Given the description of an element on the screen output the (x, y) to click on. 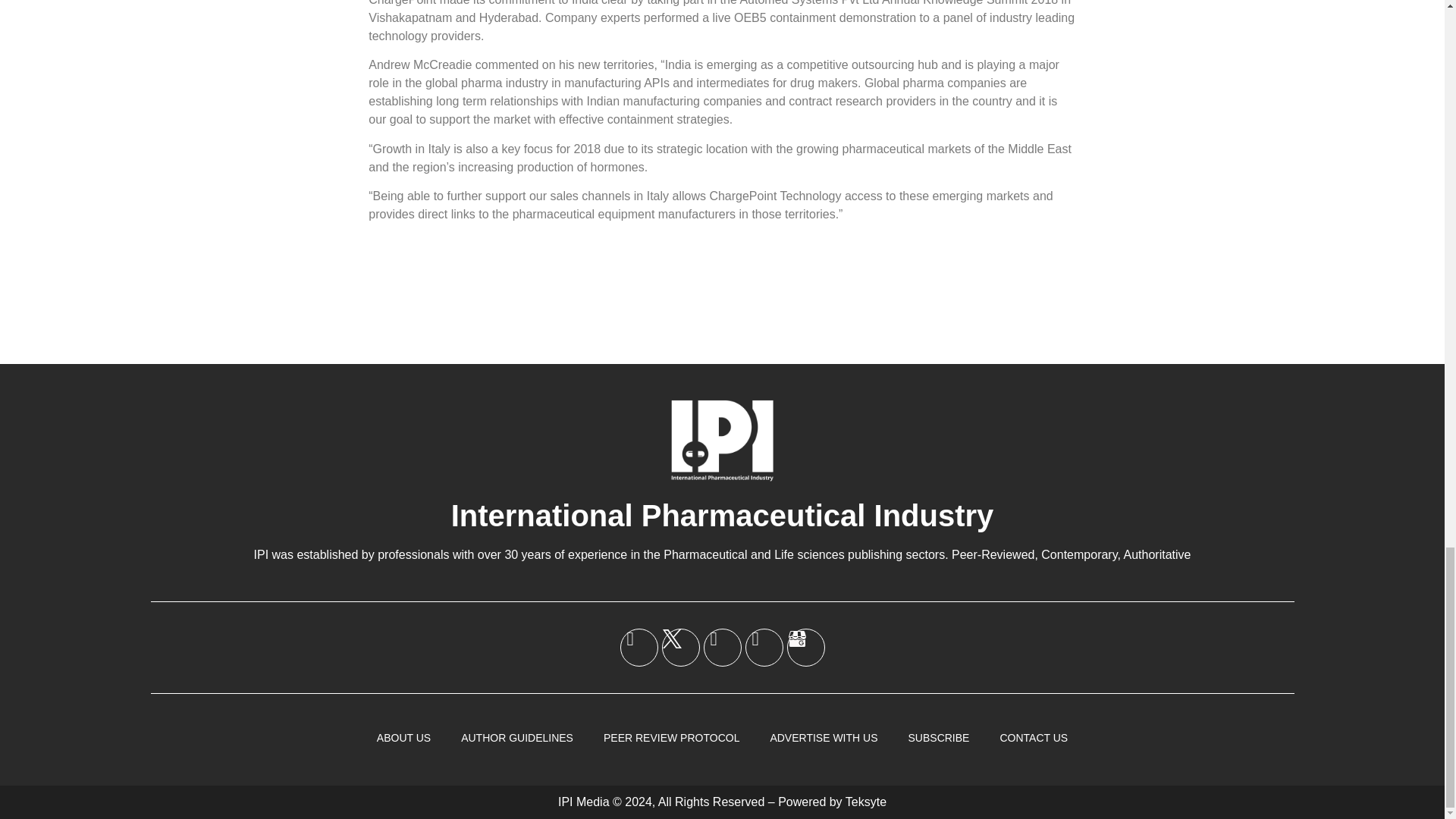
Web design services (865, 801)
logo-ipi-w.png (721, 439)
